Given the description of an element on the screen output the (x, y) to click on. 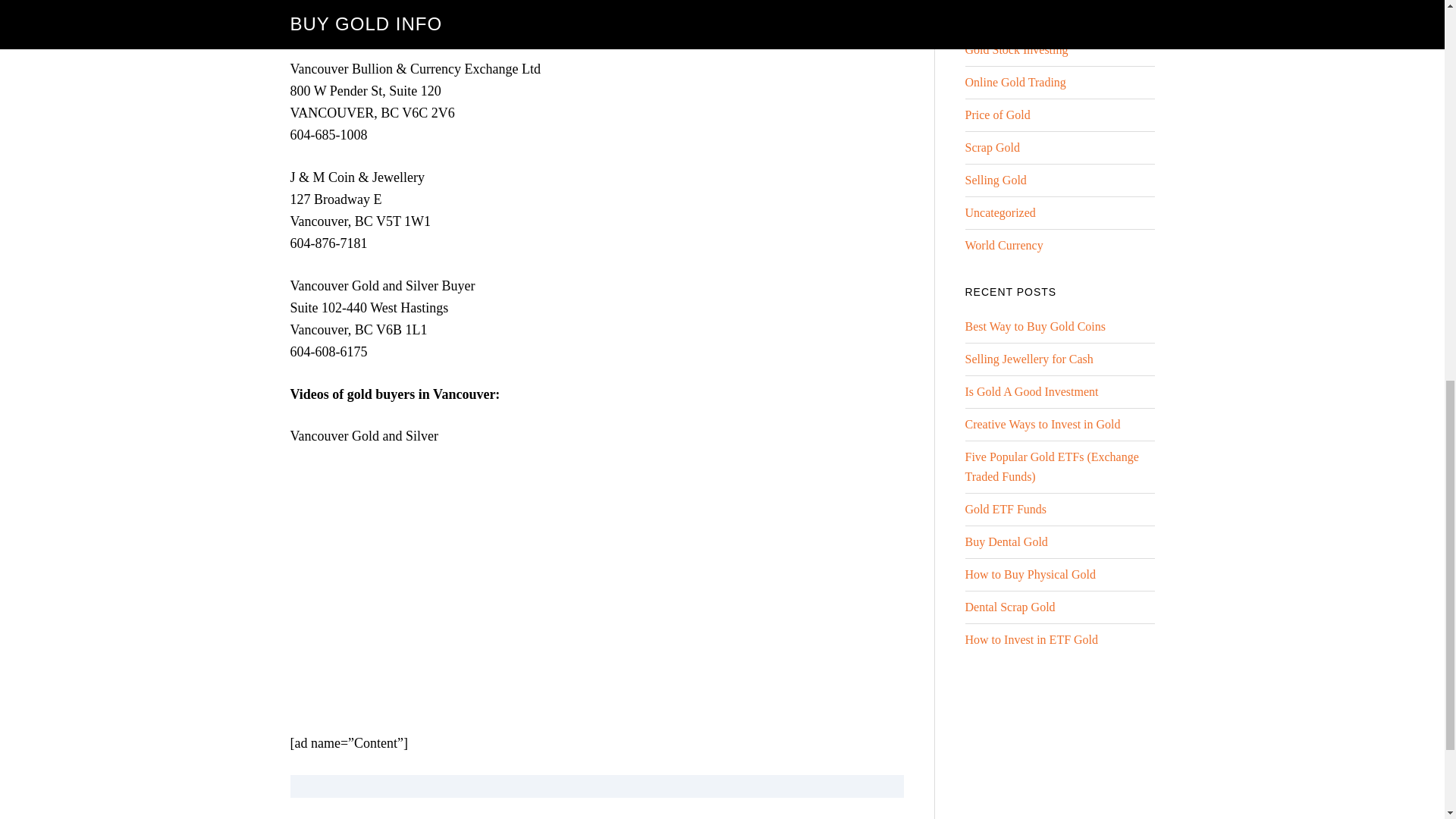
Gold Stock Investing (1015, 49)
Buy Dental Gold (1004, 541)
How to Buy Physical Gold (1028, 574)
Uncategorized (999, 212)
Scrap Gold (991, 146)
Gold ETF Funds (1004, 508)
Selling Jewellery for Cash (1028, 358)
How to Invest in ETF Gold (1030, 639)
Price of Gold (996, 114)
Best Way to Buy Gold Coins (1034, 326)
